Given the description of an element on the screen output the (x, y) to click on. 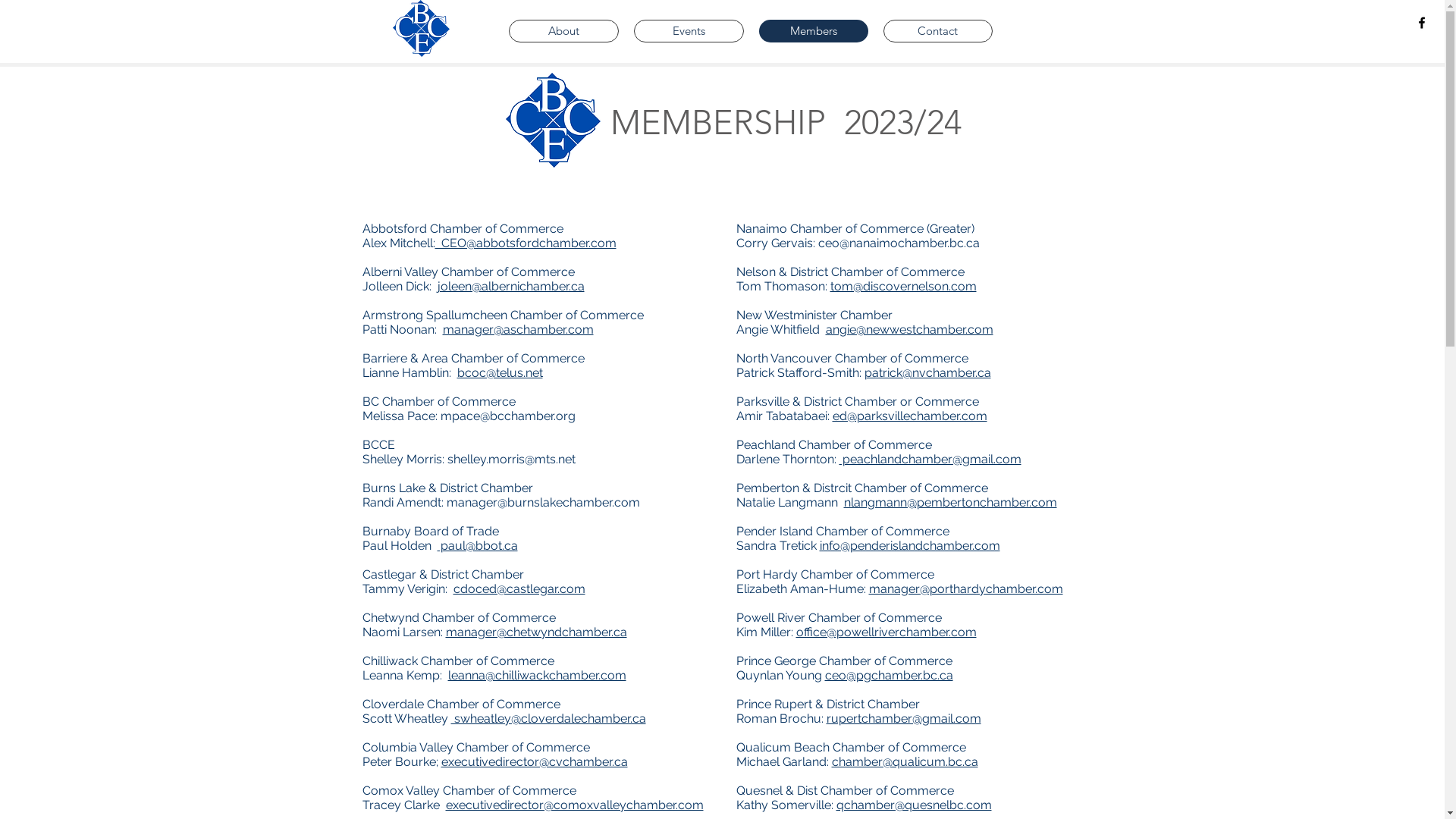
info@penderislandchamber.com Element type: text (909, 545)
manager@chetwyndchamber.ca Element type: text (536, 631)
mpace@bcchamber.org Element type: text (506, 415)
joleen@albernichamber.ca Element type: text (509, 286)
shelley.morris@mts.net Element type: text (511, 458)
rupertchamber@gmail.com Element type: text (903, 718)
Contact Element type: text (936, 30)
peachlandchamber@gmail.com Element type: text (929, 458)
manager@porthardychamber.com Element type: text (966, 588)
cdoced@castlegar.com Element type: text (519, 588)
nlangmann@pembertonchamber.com Element type: text (949, 502)
ed@parksvillechamber.com Element type: text (909, 415)
tom@discovernelson.com Element type: text (902, 286)
qchamber@quesnelbc.com Element type: text (913, 804)
angie@newwestchamber.com Element type: text (908, 329)
ceo@nanaimochamber.bc.ca Element type: text (898, 242)
 paul@bbot.ca Element type: text (476, 545)
leanna@chilliwackchamber.com Element type: text (536, 675)
executivedirector@cvchamber.ca Element type: text (534, 761)
Quynlan Young ceo@pgchamber.bc.ca Element type: text (843, 675)
Michael Garland: chamber@qualicum.bc.ca Element type: text (856, 761)
manager@burnslakechamber.com Element type: text (542, 502)
office@powellriverchamber.com Element type: text (886, 631)
patrick@nvchamber.ca Element type: text (927, 372)
  CEO@abbotsfordchamber.com Element type: text (525, 242)
executivedirector@comoxvalleychamber.com Element type: text (574, 804)
manager@aschamber.com Element type: text (517, 329)
Members Element type: text (812, 30)
swheatley@cloverdalechamber.ca Element type: text (547, 718)
bcoc@telus.net Element type: text (499, 372)
